Given the description of an element on the screen output the (x, y) to click on. 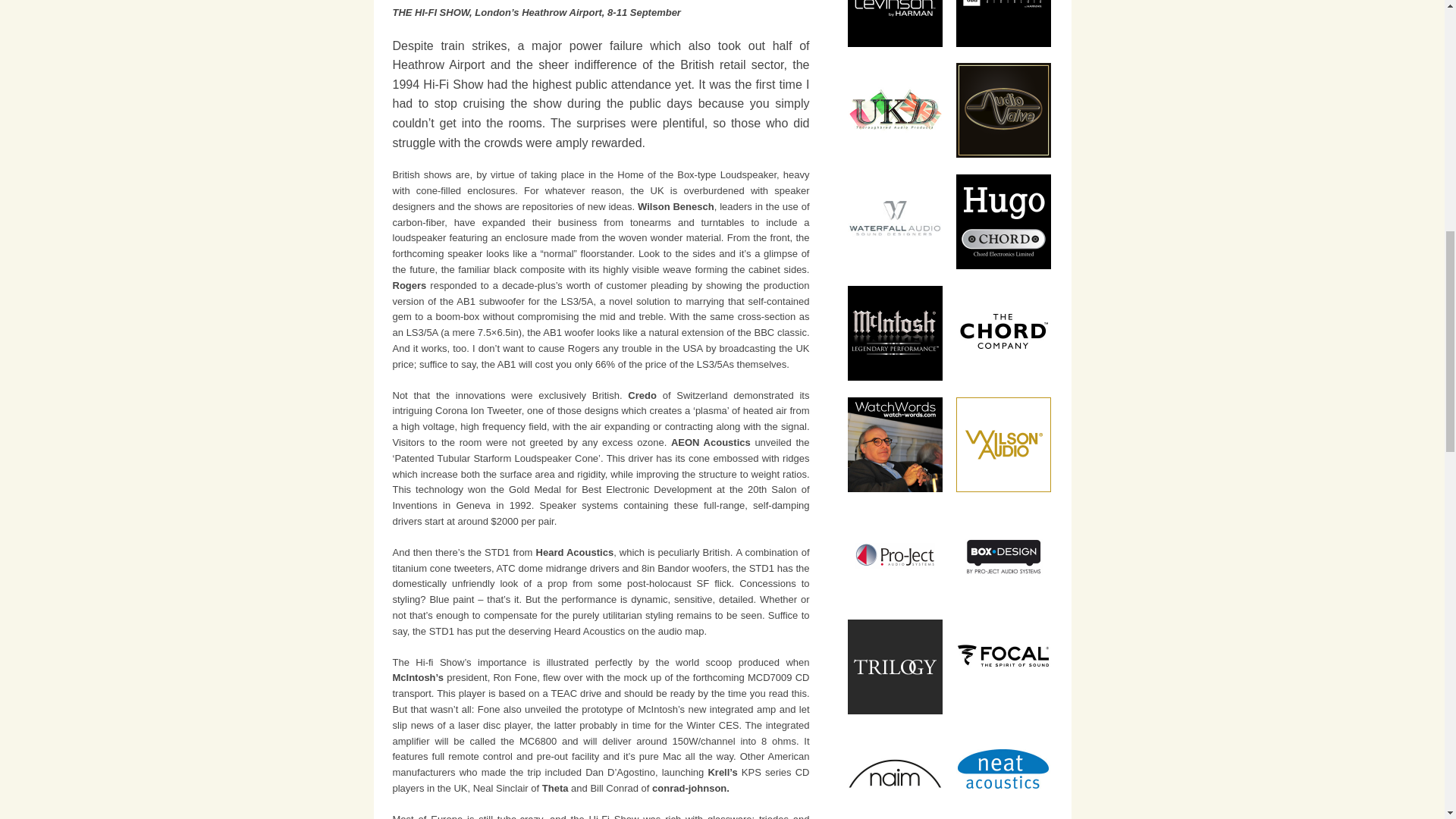
McIntosh (894, 332)
Mark Levinson (894, 23)
JBL Synthesis (1002, 23)
AudioValve (1002, 110)
UKD (894, 110)
Watch-Words (894, 444)
Waterfall (894, 221)
Chord Electronics (1002, 221)
The Chord Company (1002, 332)
